Given the description of an element on the screen output the (x, y) to click on. 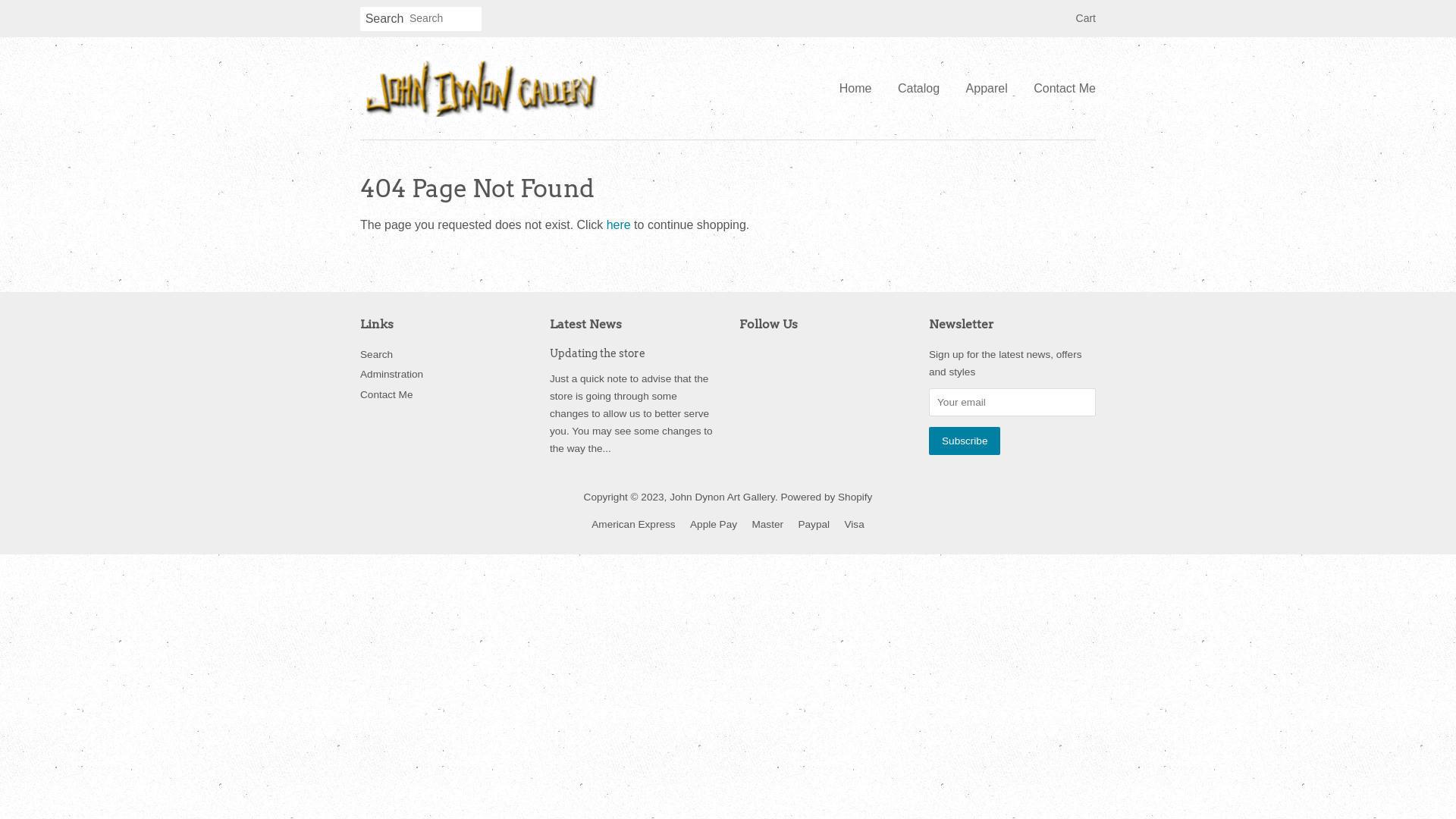
Latest News Element type: text (585, 323)
Powered by Shopify Element type: text (826, 496)
Updating the store Element type: text (597, 353)
here Element type: text (618, 224)
Subscribe Element type: text (964, 440)
Catalog Element type: text (918, 87)
John Dynon Art Gallery Element type: text (722, 496)
Search Element type: text (376, 354)
Search Element type: text (384, 18)
Home Element type: text (861, 87)
Contact Me Element type: text (1058, 87)
Adminstration Element type: text (391, 373)
Contact Me Element type: text (386, 394)
Cart Element type: text (1085, 18)
Apparel Element type: text (986, 87)
